Given the description of an element on the screen output the (x, y) to click on. 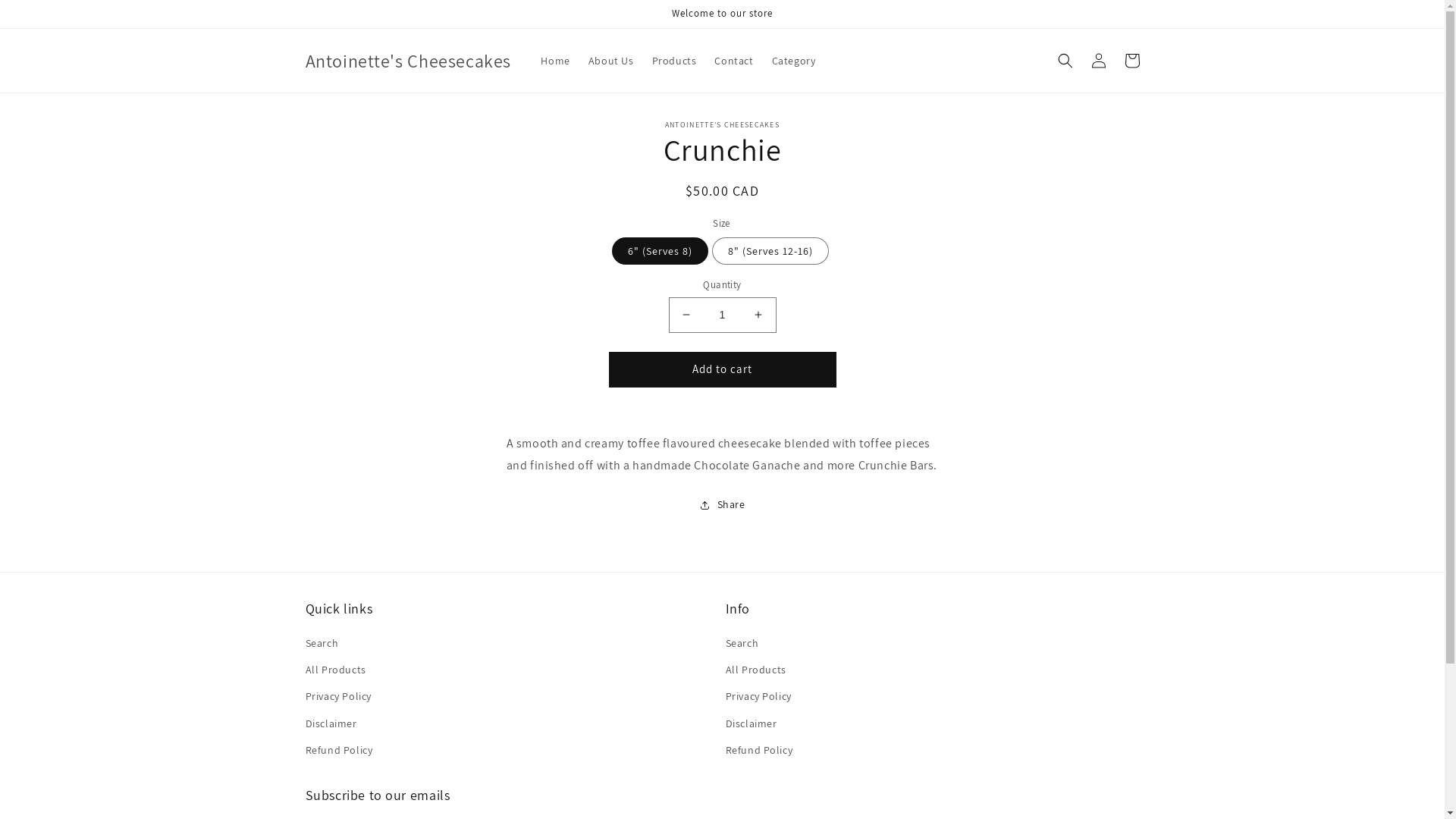
Search Element type: text (741, 644)
Privacy Policy Element type: text (757, 696)
All Products Element type: text (334, 669)
Home Element type: text (554, 60)
Search Element type: text (321, 644)
All Products Element type: text (754, 669)
Privacy Policy Element type: text (337, 696)
https://antoinettescheesecakes.ca/products/crunchie Element type: text (789, 555)
Products Element type: text (674, 60)
Log in Element type: text (1097, 60)
Decrease quantity for Crunchie Element type: text (685, 314)
Refund Policy Element type: text (758, 750)
Increase quantity for Crunchie Element type: text (758, 314)
Refund Policy Element type: text (338, 750)
Add to cart Element type: text (721, 369)
About Us Element type: text (611, 60)
Antoinette's Cheesecakes Element type: text (407, 60)
Skip to product information Element type: text (551, 137)
Cart Element type: text (1131, 60)
Category Element type: text (793, 60)
Disclaimer Element type: text (750, 723)
Contact Element type: text (733, 60)
Disclaimer Element type: text (330, 723)
